Given the description of an element on the screen output the (x, y) to click on. 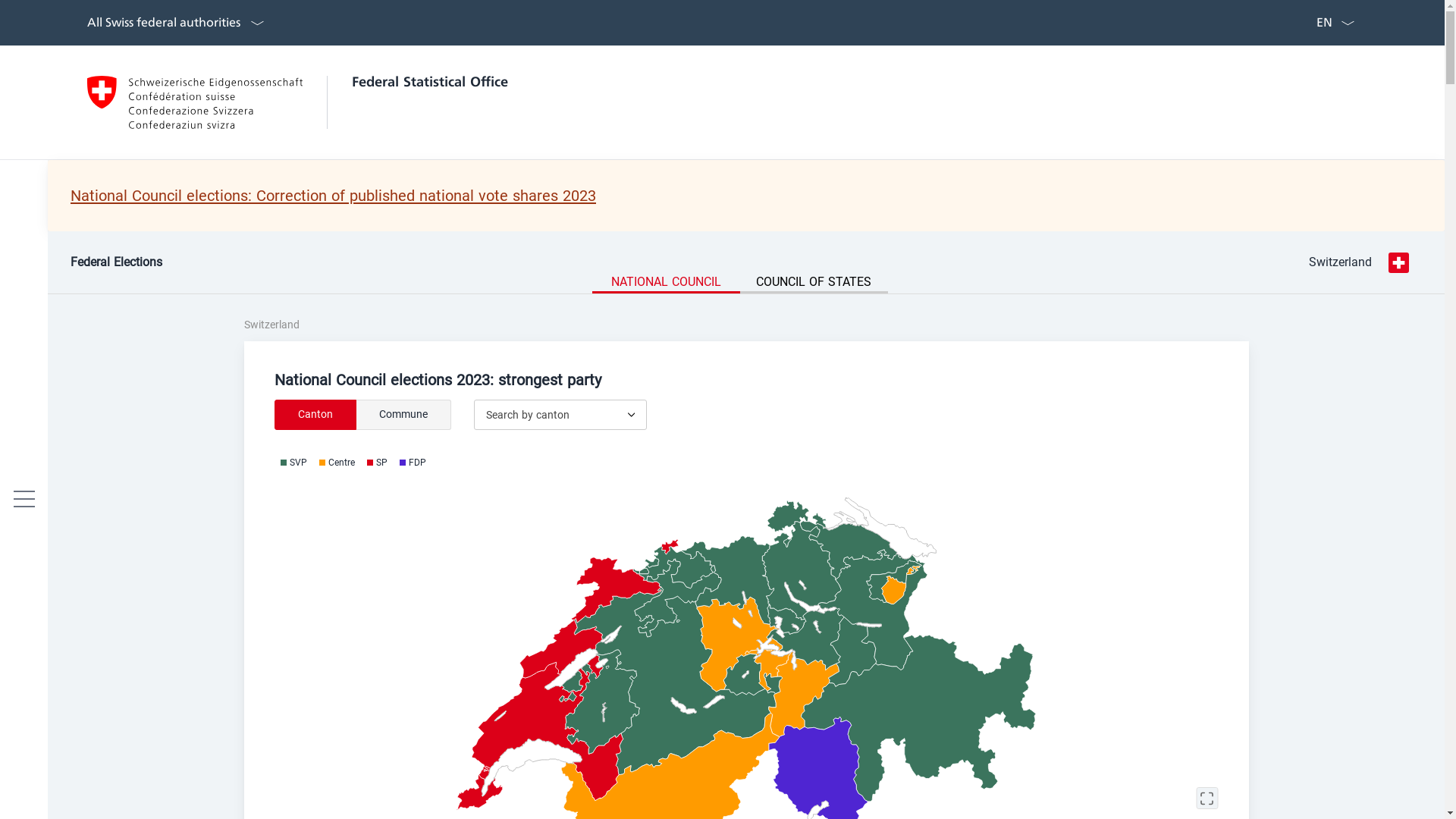
Federal Statistical Office Element type: text (296, 101)
COUNCIL OF STATES Element type: text (814, 283)
NATIONAL COUNCIL Element type: text (665, 283)
Fit to extent Element type: hover (1206, 798)
All Swiss federal authorities Element type: text (176, 22)
